Given the description of an element on the screen output the (x, y) to click on. 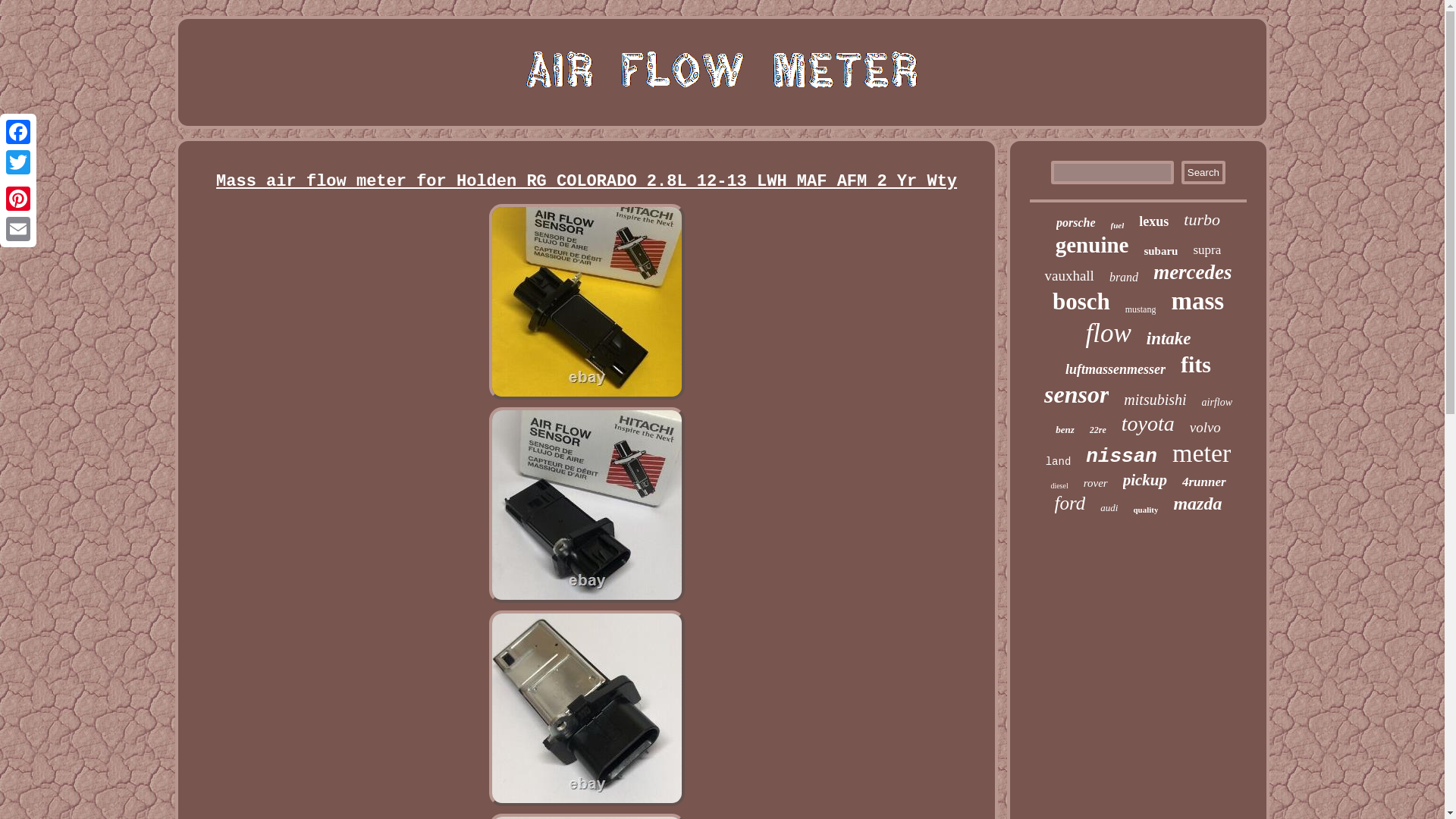
Pinterest (17, 198)
fuel (1117, 225)
porsche (1076, 223)
mitsubishi (1155, 399)
mustang (1140, 309)
mass (1197, 301)
intake (1169, 338)
bosch (1080, 301)
flow (1107, 333)
lexus (1153, 221)
Twitter (17, 162)
luftmassenmesser (1115, 369)
brand (1123, 277)
